Given the description of an element on the screen output the (x, y) to click on. 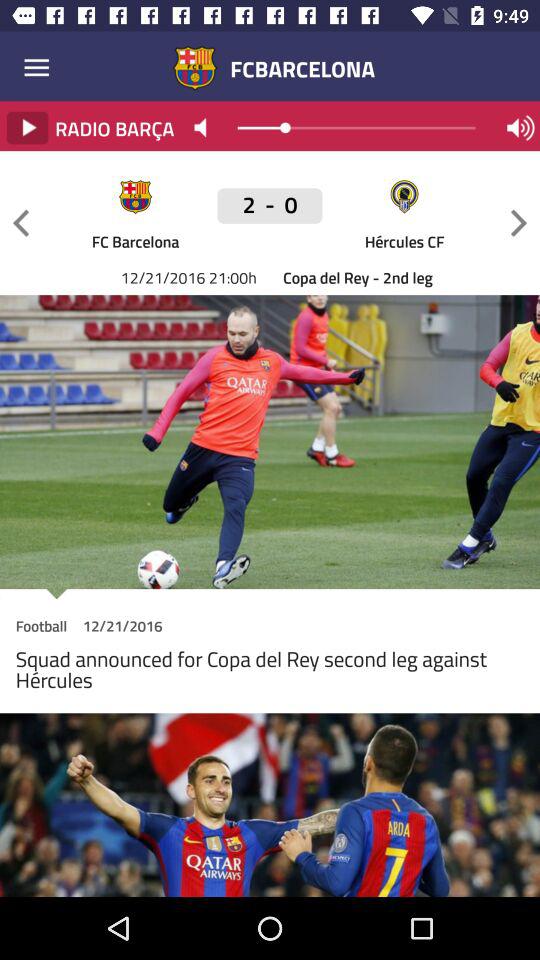
open icon to the left of copa del rey item (269, 216)
